Given the description of an element on the screen output the (x, y) to click on. 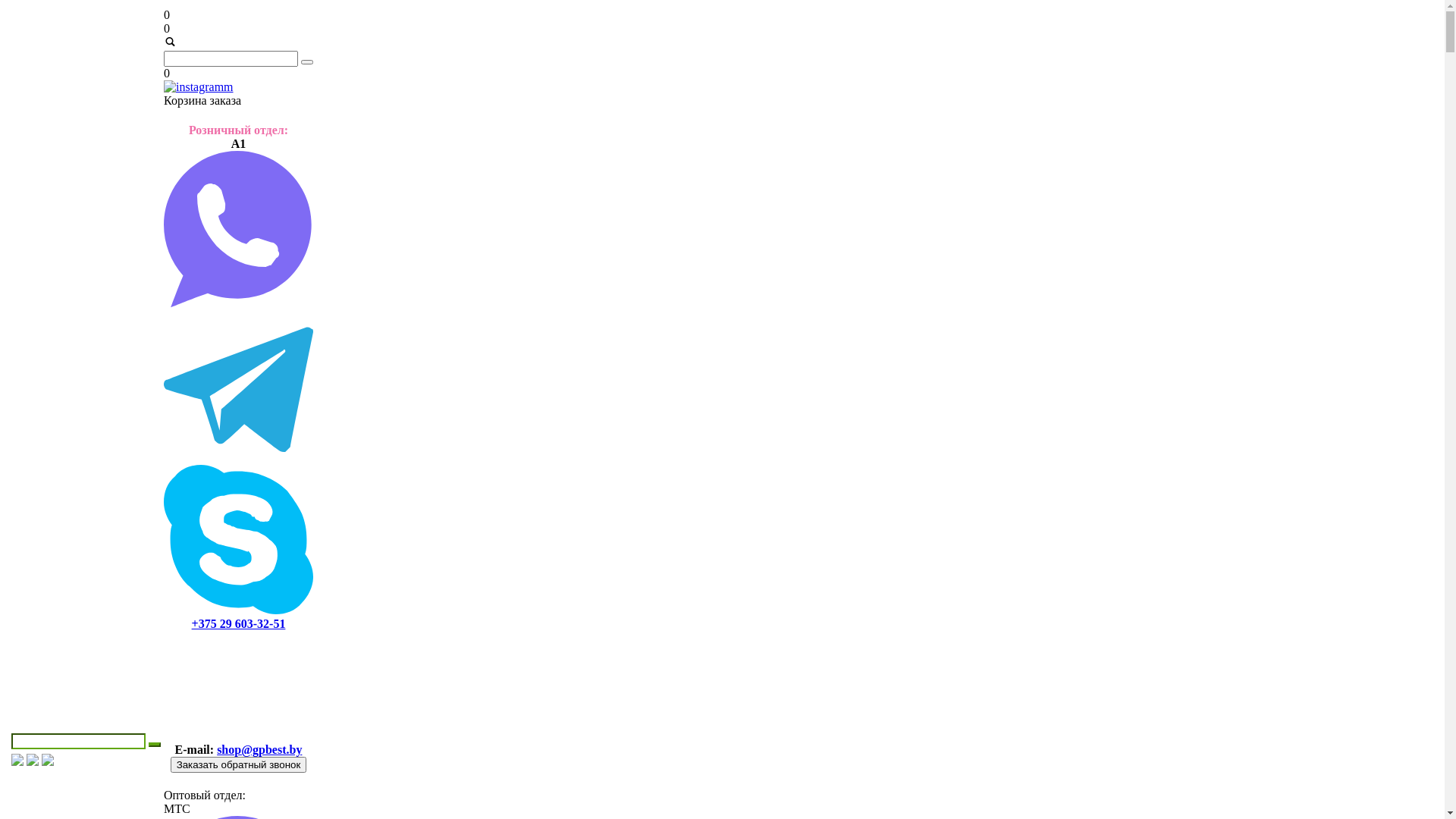
shop@gpbest.by Element type: text (258, 749)
+375 29 603-32-51 Element type: text (238, 623)
